Given the description of an element on the screen output the (x, y) to click on. 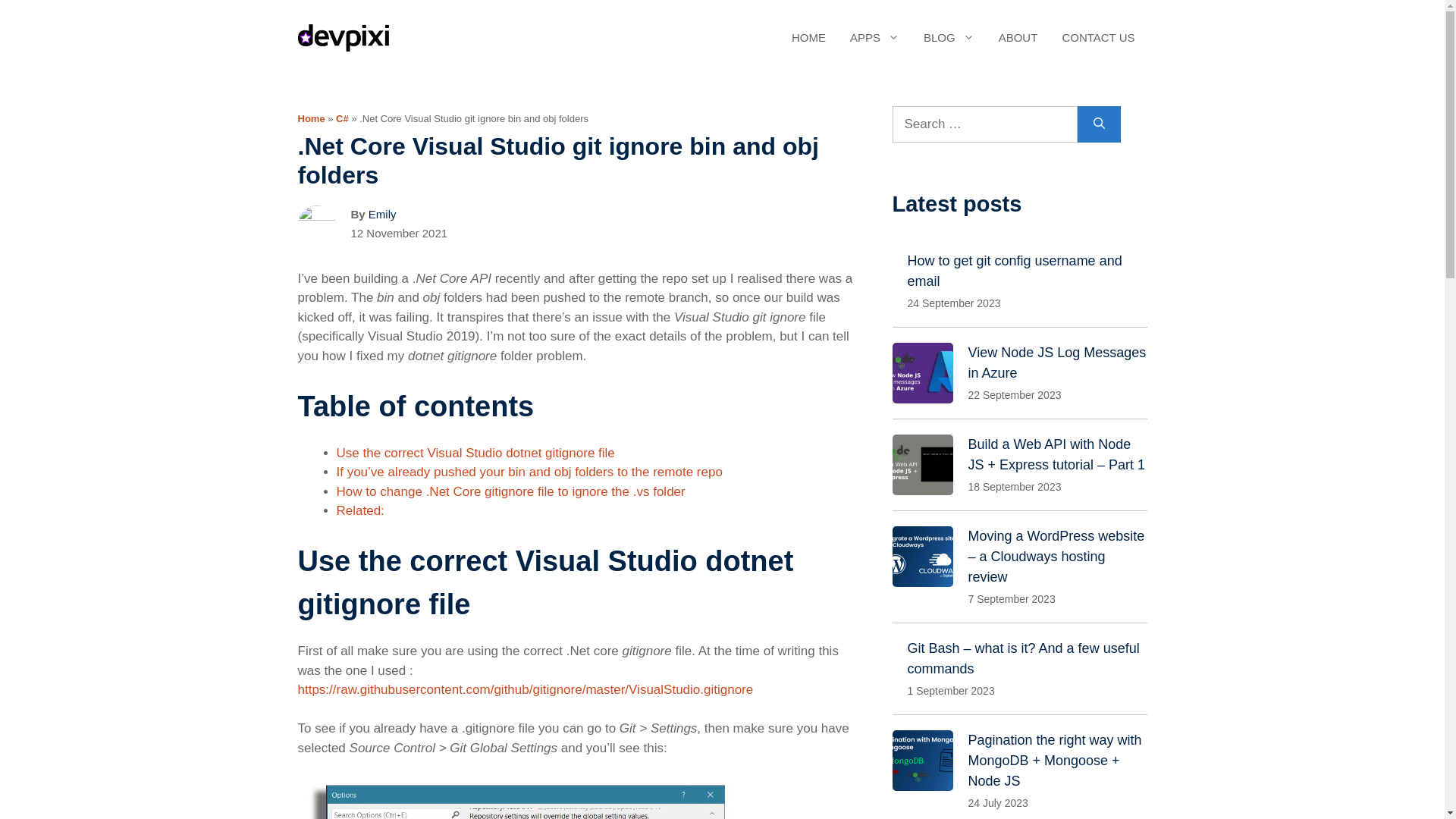
Search for: (984, 124)
HOME (808, 37)
ABOUT (1018, 37)
APPS (874, 37)
BLOG (949, 37)
CONTACT US (1098, 37)
